Given the description of an element on the screen output the (x, y) to click on. 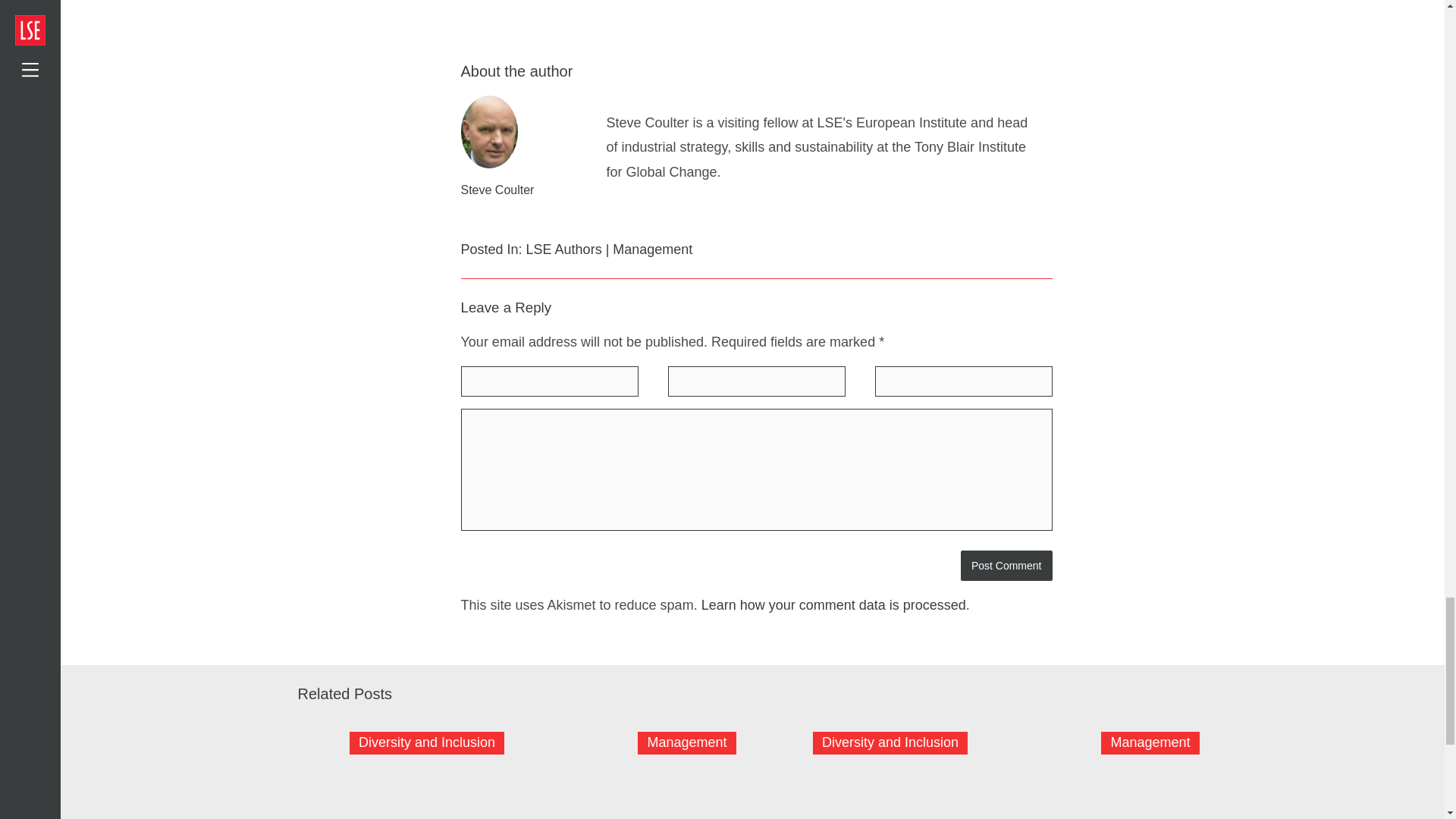
Learn how your comment data is processed (833, 604)
Post Comment (1006, 565)
Post Comment (1006, 565)
